Given the description of an element on the screen output the (x, y) to click on. 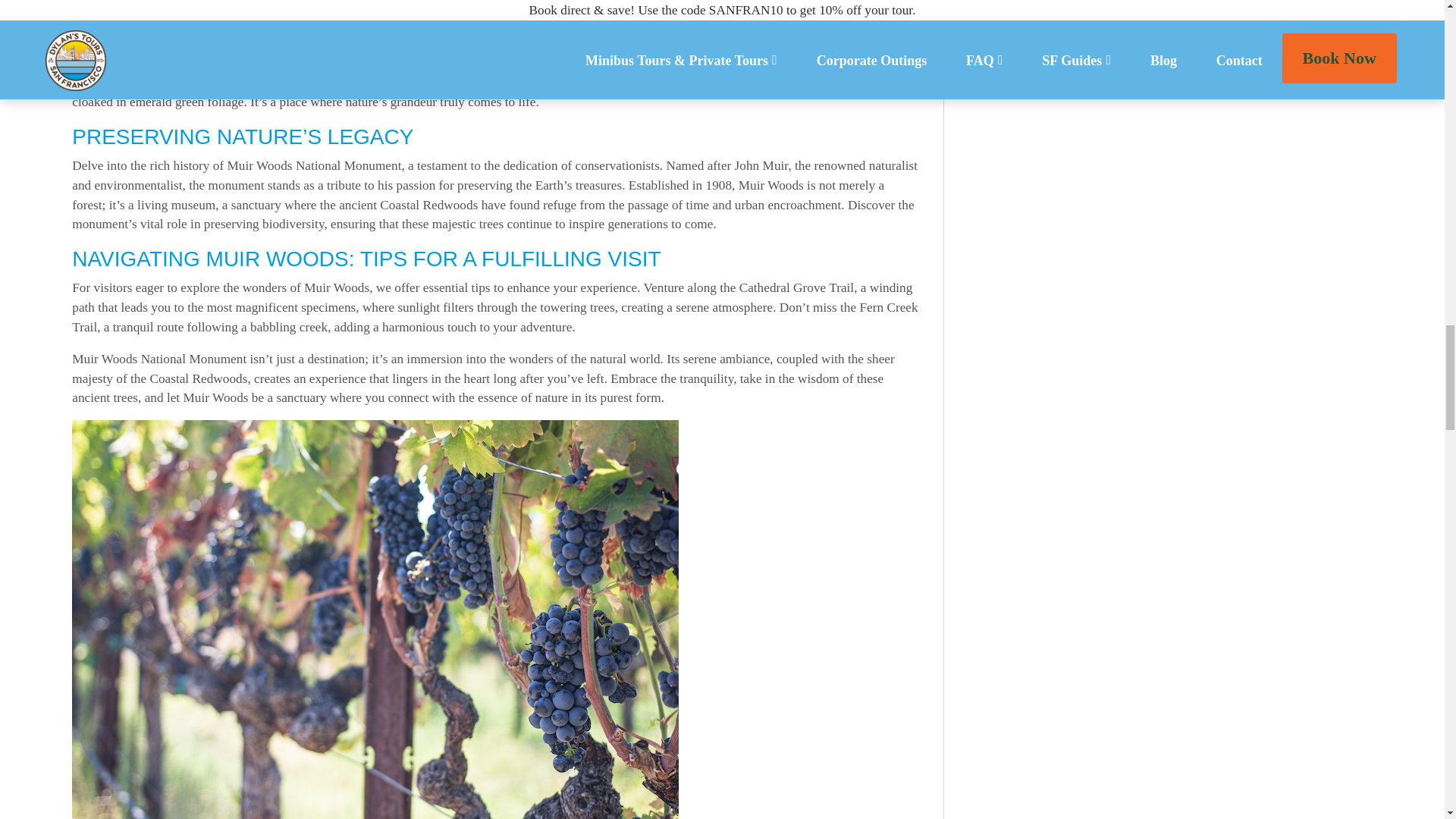
Muir Woods National Monument (479, 62)
